Given the description of an element on the screen output the (x, y) to click on. 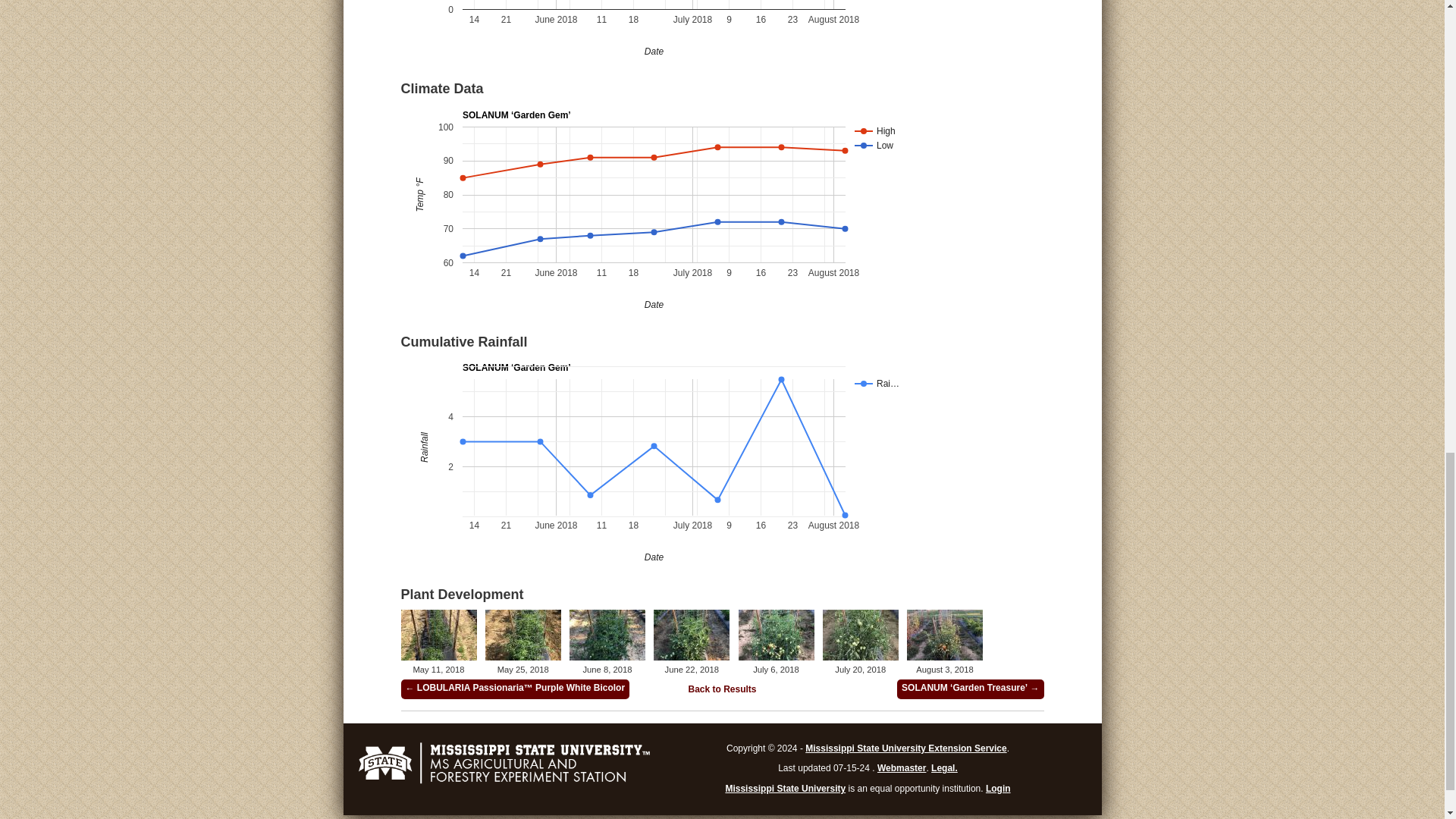
Mississippi State University Extension Service (905, 747)
Webmaster (901, 767)
MAFES (503, 782)
Webmaster (901, 767)
Back to Results (721, 688)
Mississippi State University (785, 787)
